Given the description of an element on the screen output the (x, y) to click on. 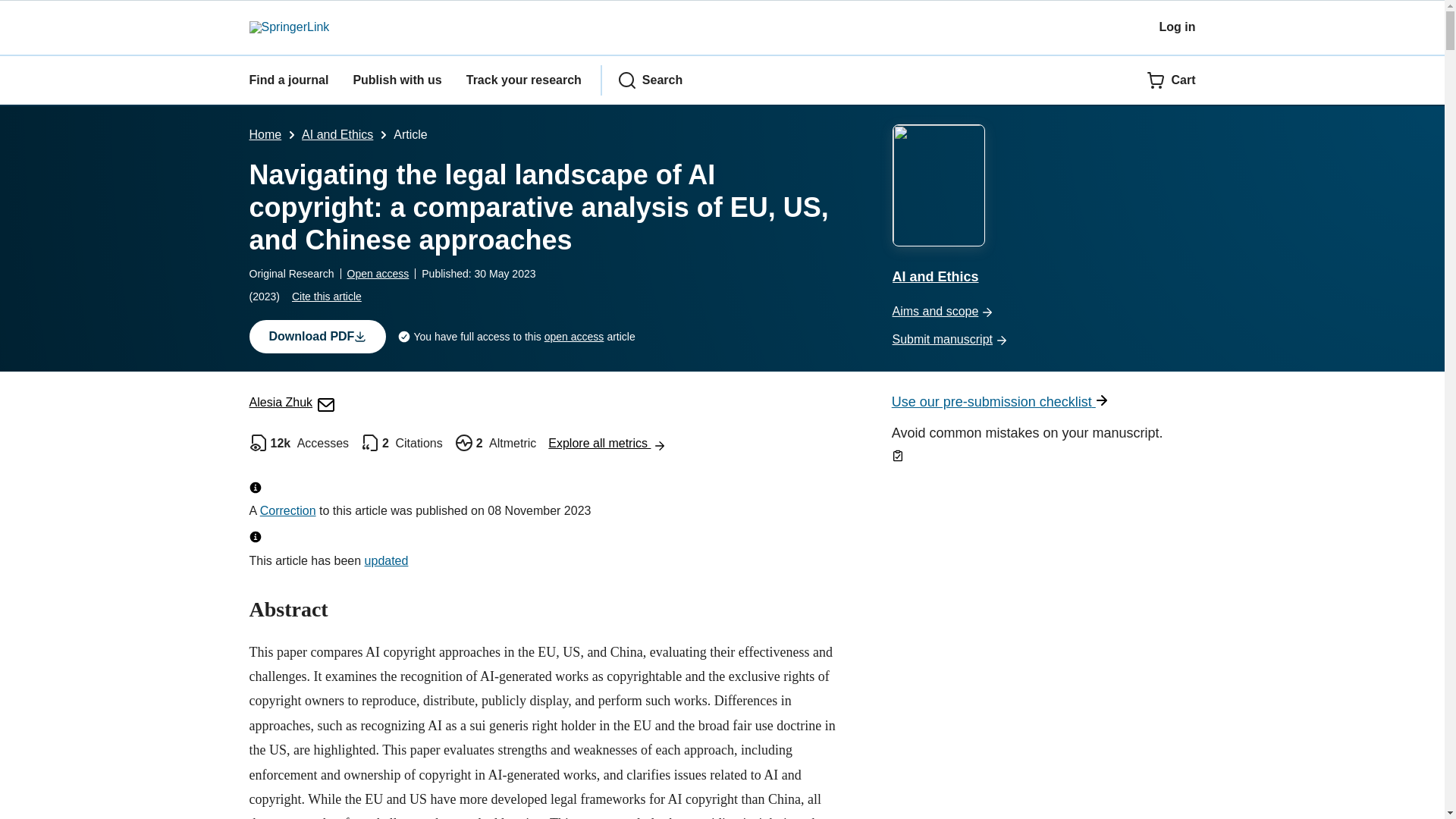
Track your research (524, 79)
Correction (287, 510)
Alesia Zhuk (291, 401)
Cite this article (326, 296)
Download PDF (316, 336)
Open access (378, 273)
Explore all metrics (606, 442)
Log in (1177, 26)
updated (387, 560)
Publish with us (396, 79)
AI and Ethics (1043, 206)
AI and Ethics (336, 133)
Aims and scope (1043, 311)
Find a journal (288, 79)
Cart (1170, 79)
